Given the description of an element on the screen output the (x, y) to click on. 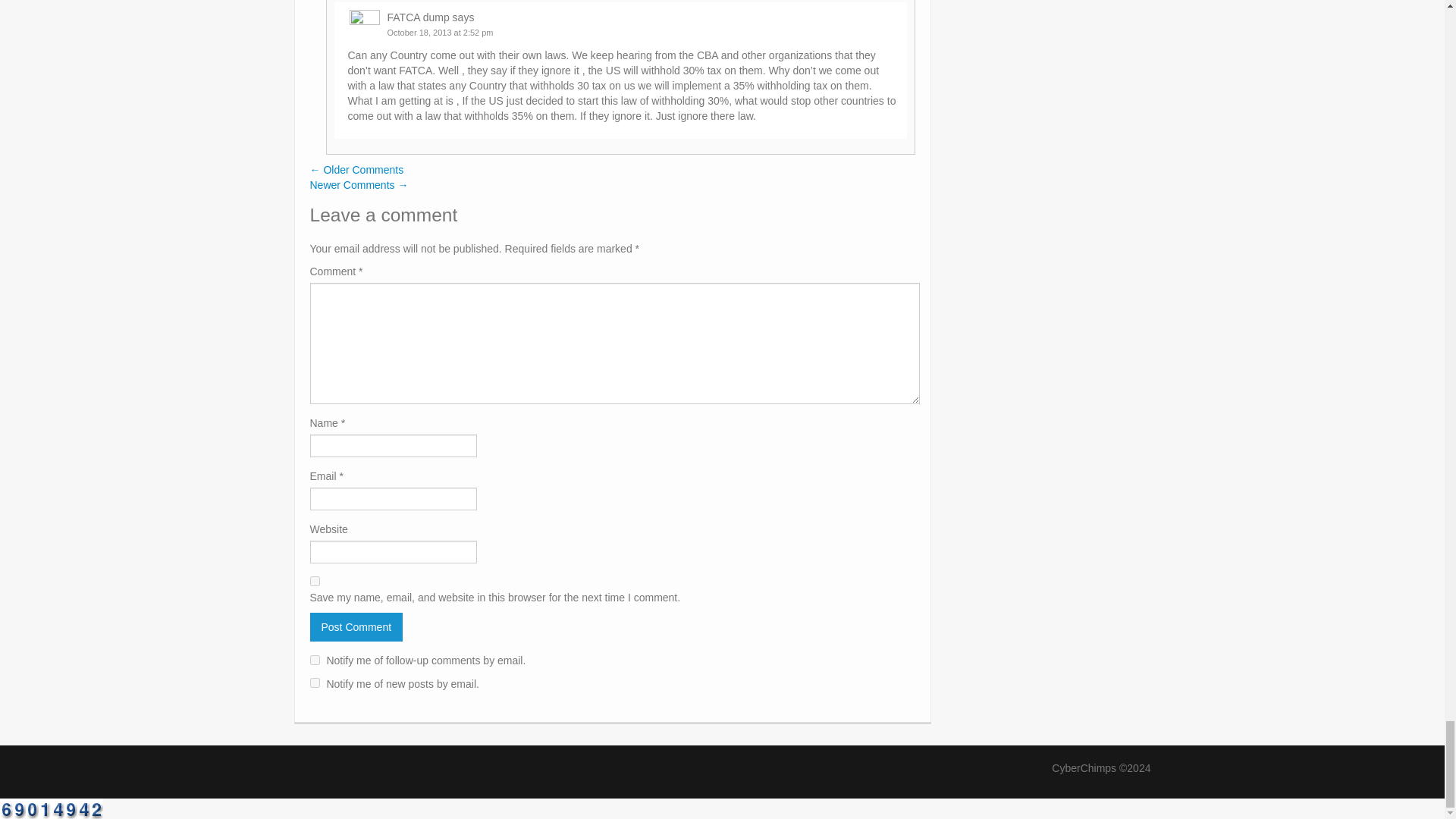
subscribe (313, 682)
subscribe (313, 660)
Post Comment (355, 626)
yes (313, 581)
